Given the description of an element on the screen output the (x, y) to click on. 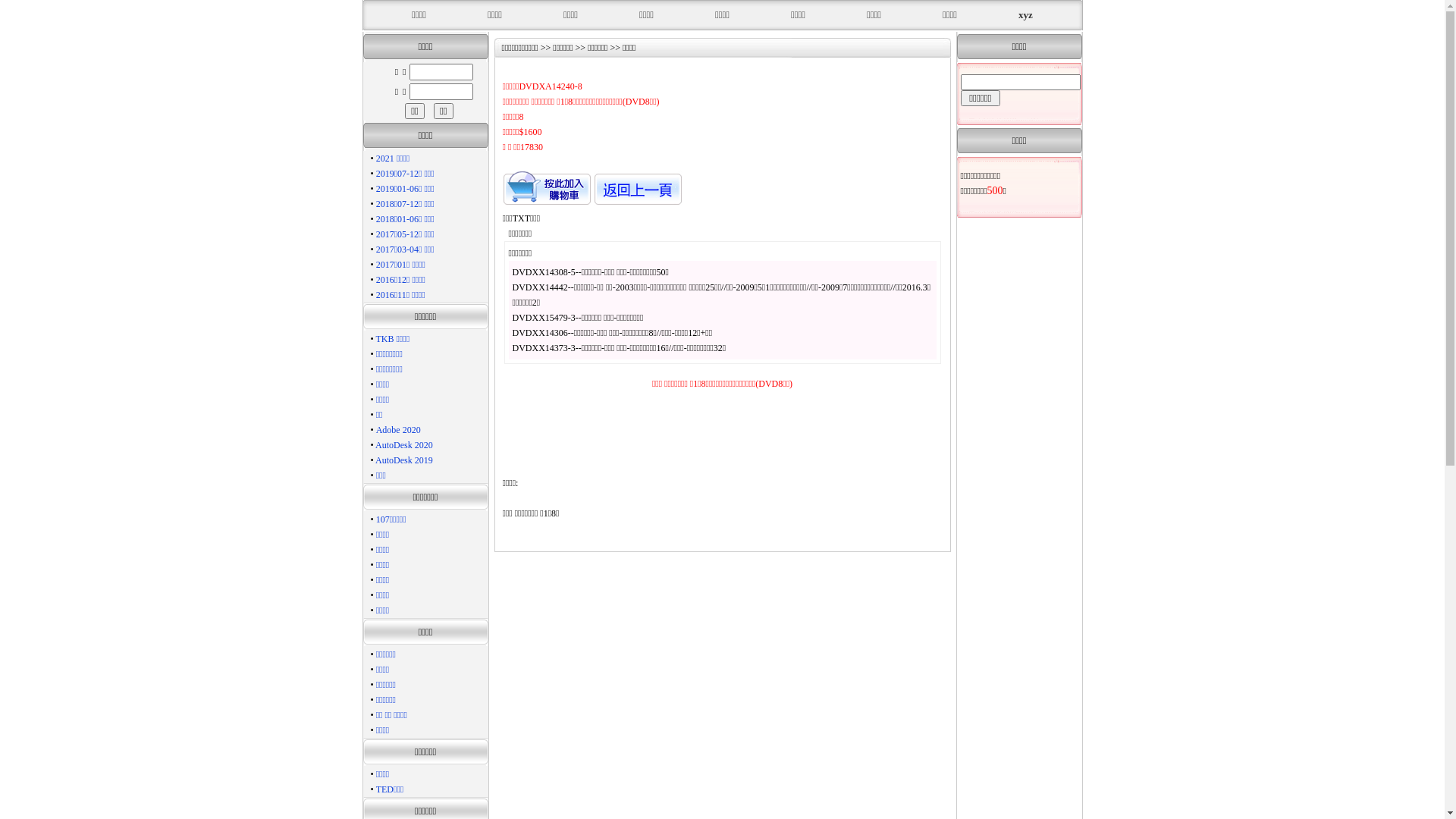
AutoDesk 2020 Element type: text (404, 444)
Adobe 2020 Element type: text (398, 429)
xyz Element type: text (1025, 14)
AutoDesk 2019 Element type: text (404, 460)
